Given the description of an element on the screen output the (x, y) to click on. 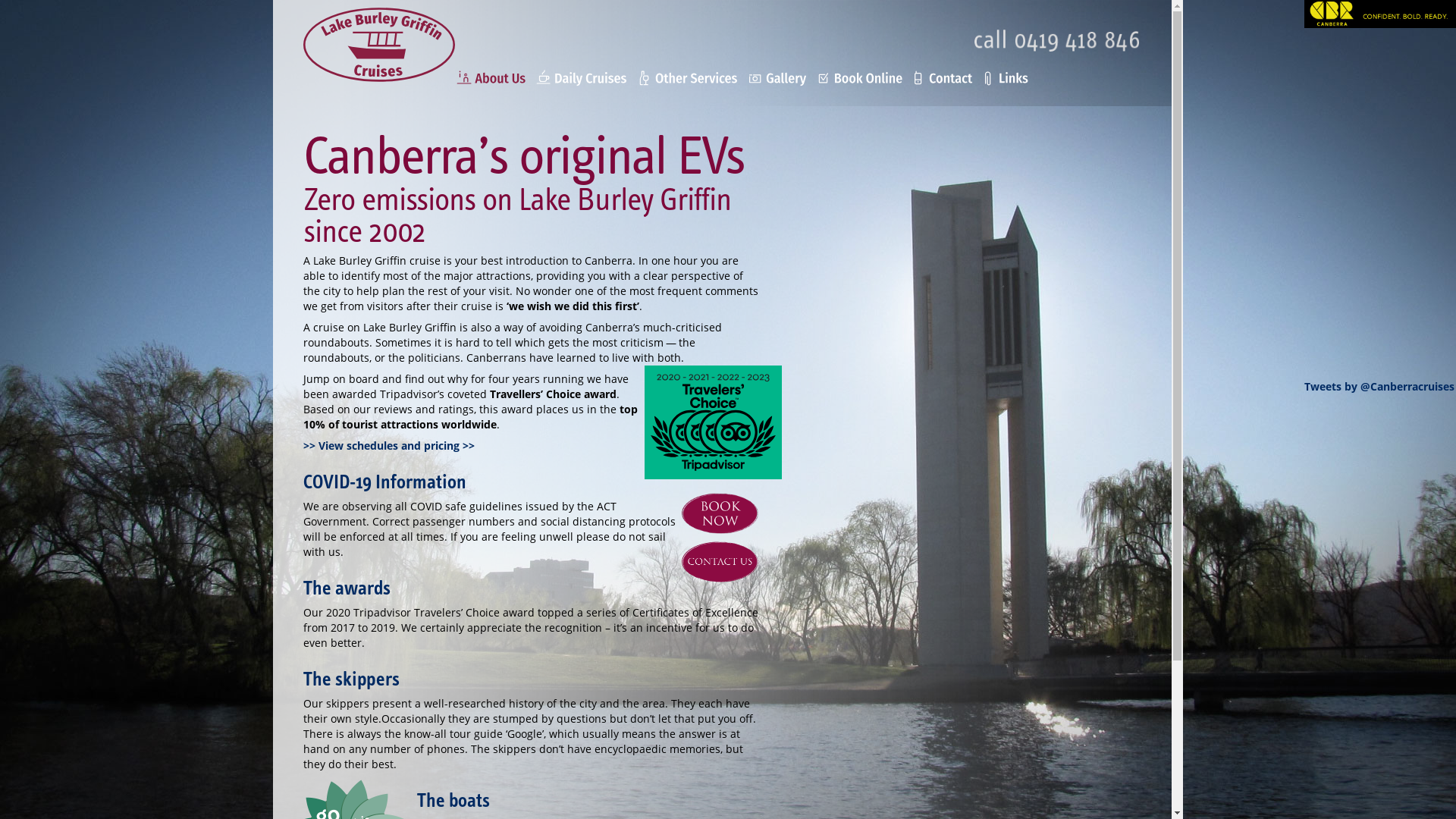
>> View schedules and pricing >> Element type: text (388, 445)
Tweets by @Canberracruises Element type: text (1379, 386)
